Given the description of an element on the screen output the (x, y) to click on. 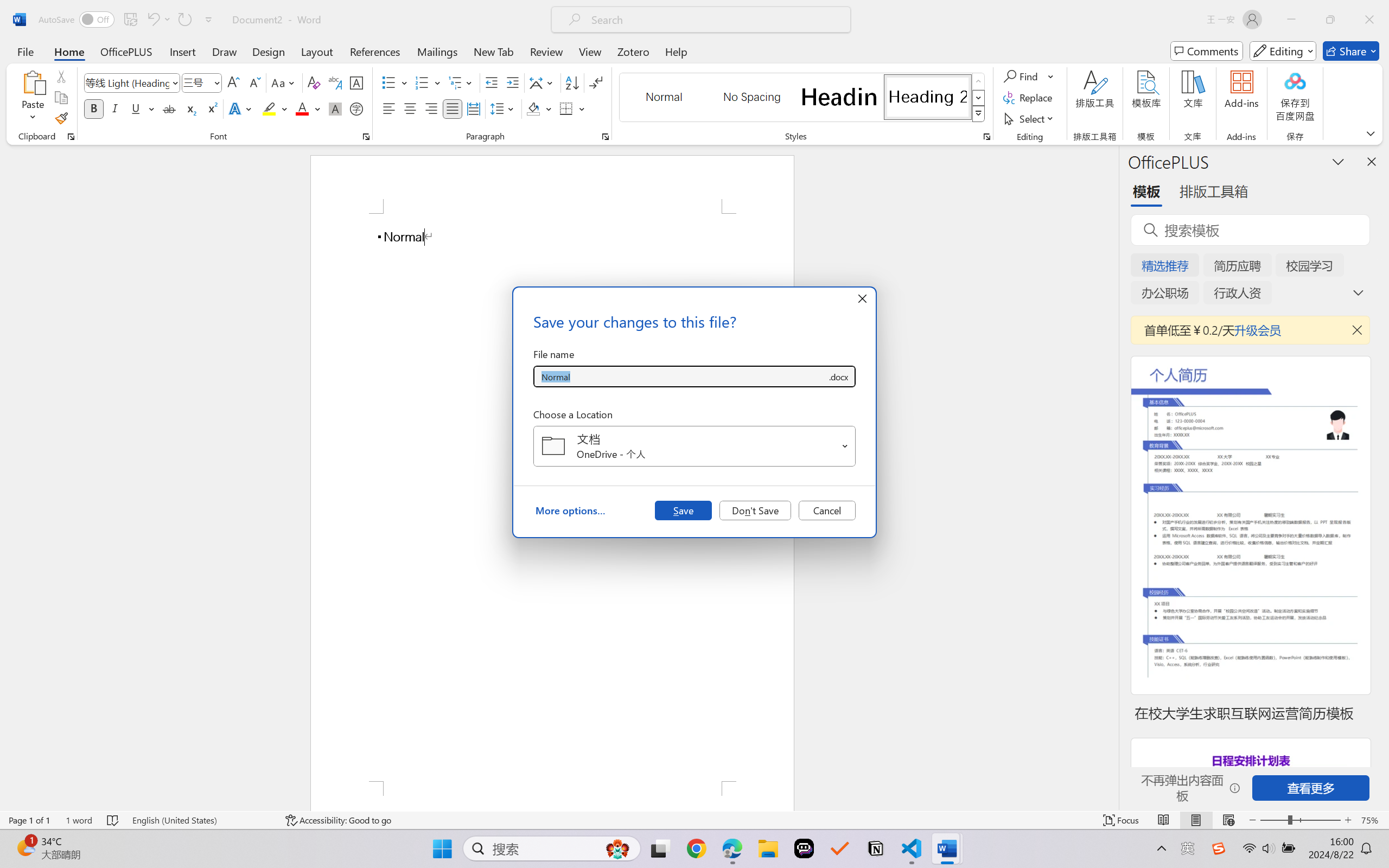
Line and Paragraph Spacing (503, 108)
Superscript (210, 108)
Save (682, 509)
Find (1029, 75)
Enclose Characters... (356, 108)
Clear Formatting (313, 82)
Replace... (1029, 97)
File name (680, 376)
